Given the description of an element on the screen output the (x, y) to click on. 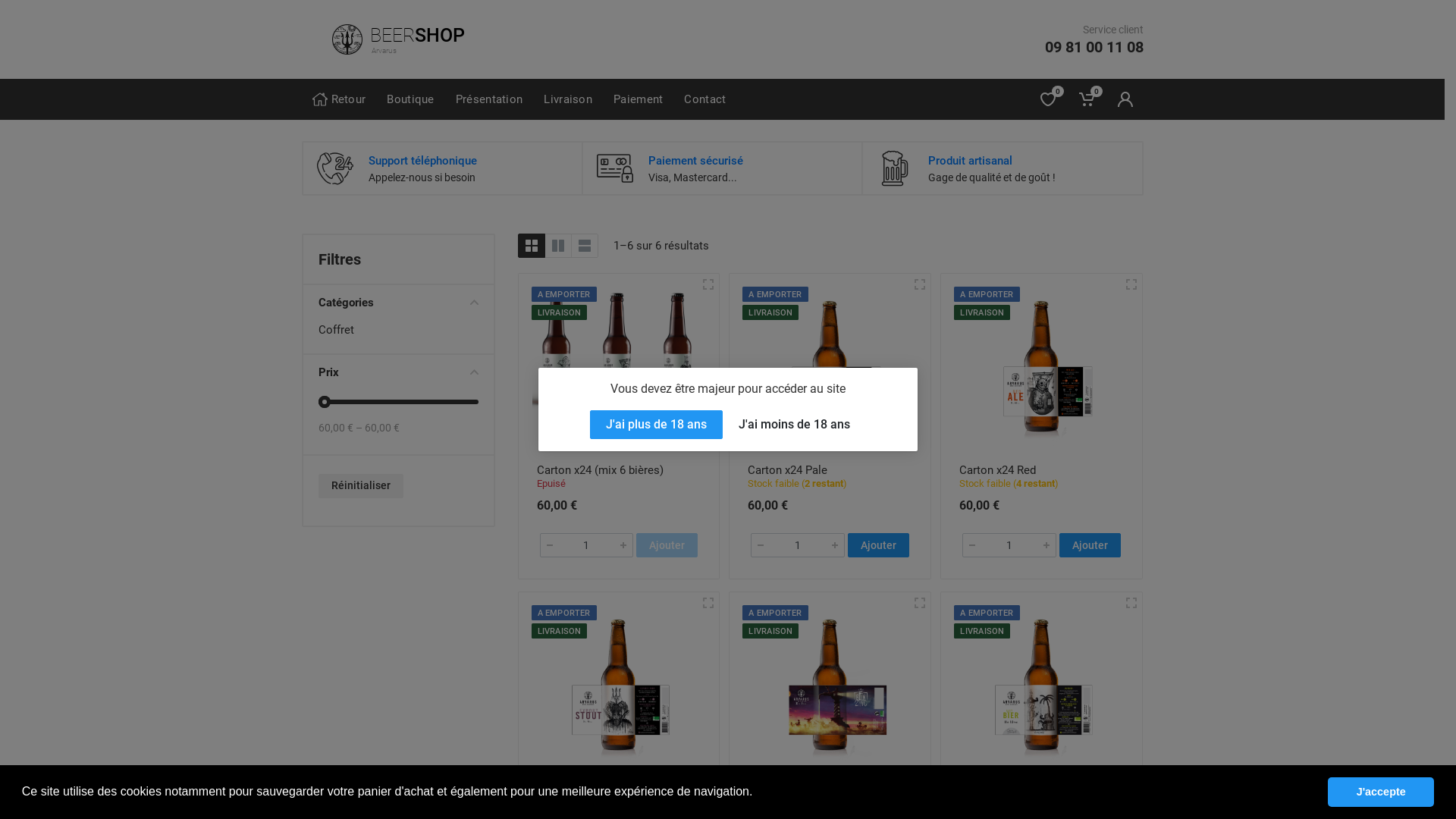
Paiement Element type: text (637, 98)
Contact Element type: text (704, 98)
Ajouter Element type: text (1089, 545)
J'accepte Element type: text (1380, 791)
Prix Element type: text (398, 371)
Carton x24 Stout Element type: text (578, 788)
Boutique Element type: text (410, 98)
Carton x24 Pale Element type: text (787, 469)
BEERSHOP
Arvarus Element type: text (409, 39)
0 Element type: text (1048, 98)
Retour Element type: text (338, 98)
VEL : Carton x24 Witbier Element type: text (1020, 788)
Carton x24 Red Element type: text (997, 469)
Ajouter Element type: text (666, 545)
Grille Element type: hover (530, 245)
J'ai moins de 18 ans Element type: text (794, 424)
Livraison Element type: text (567, 98)
Coffret Element type: text (398, 329)
Liste Element type: hover (583, 245)
0 Element type: text (1086, 98)
VEL : Carton x24 Brin D'Zinc Element type: text (818, 788)
J'ai plus de 18 ans Element type: text (655, 424)
Ajouter Element type: text (878, 545)
